Given the description of an element on the screen output the (x, y) to click on. 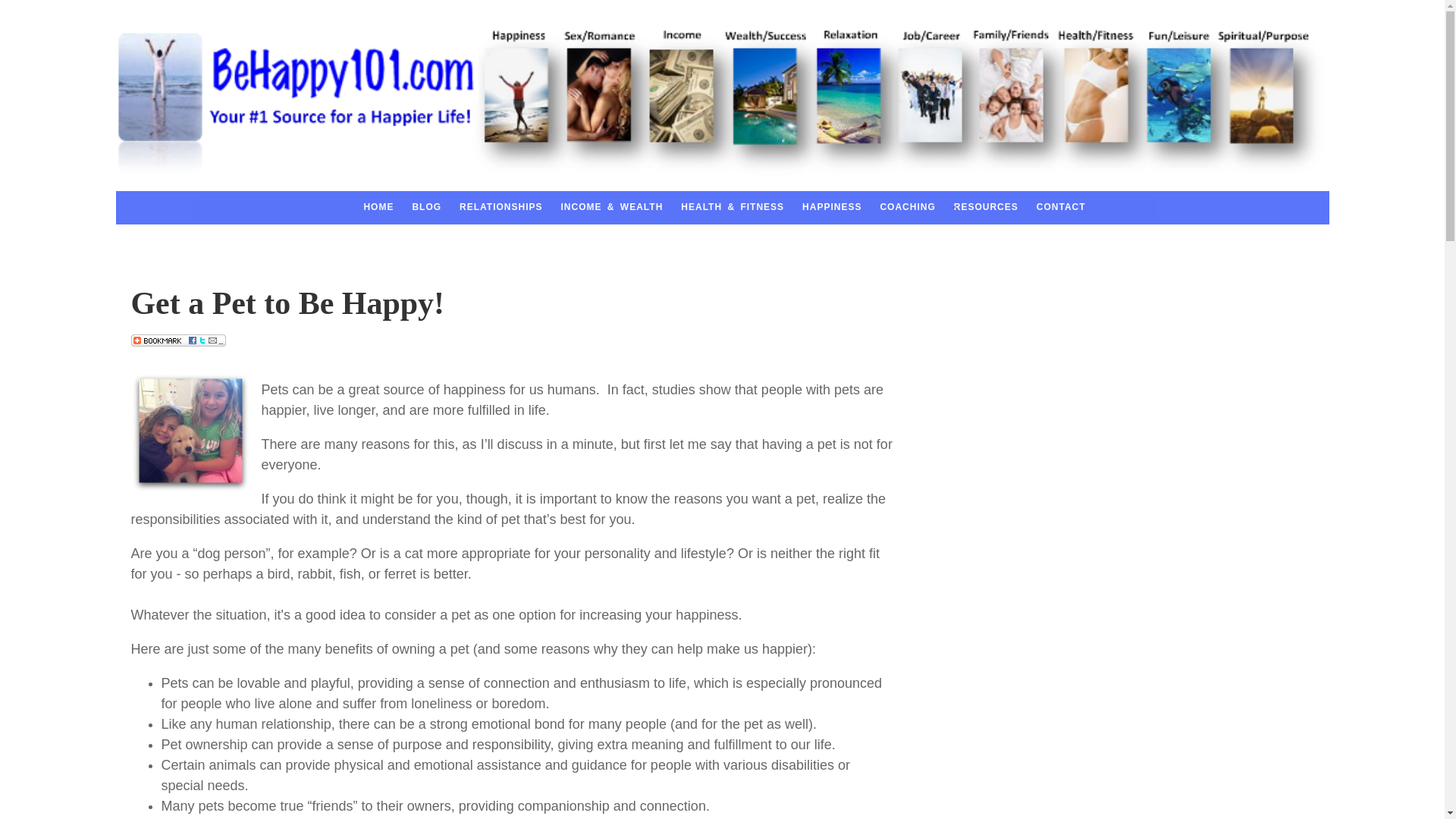
RELATIONSHIPS (499, 207)
CONTACT (1059, 207)
HAPPINESS (830, 207)
BLOG (424, 207)
COACHING (905, 207)
HOME (376, 207)
